Given the description of an element on the screen output the (x, y) to click on. 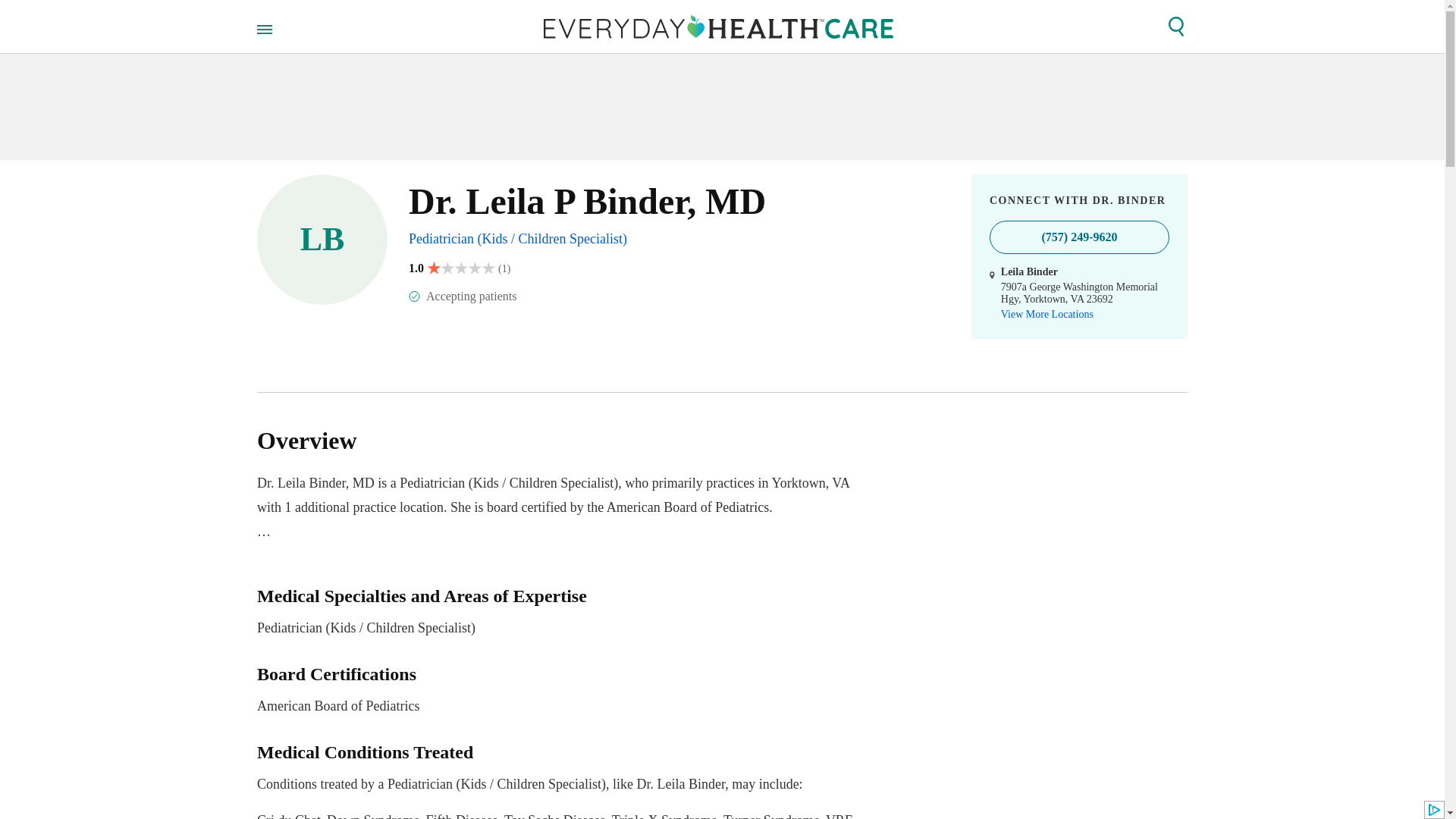
Turner Syndrome (771, 816)
Down Syndrome (373, 816)
View More Locations (1047, 314)
Tay Sachs Disease (554, 816)
VRE (560, 691)
Cri du Chat (839, 816)
Fifth Disease (288, 816)
Triple X Syndrome (461, 816)
